Given the description of an element on the screen output the (x, y) to click on. 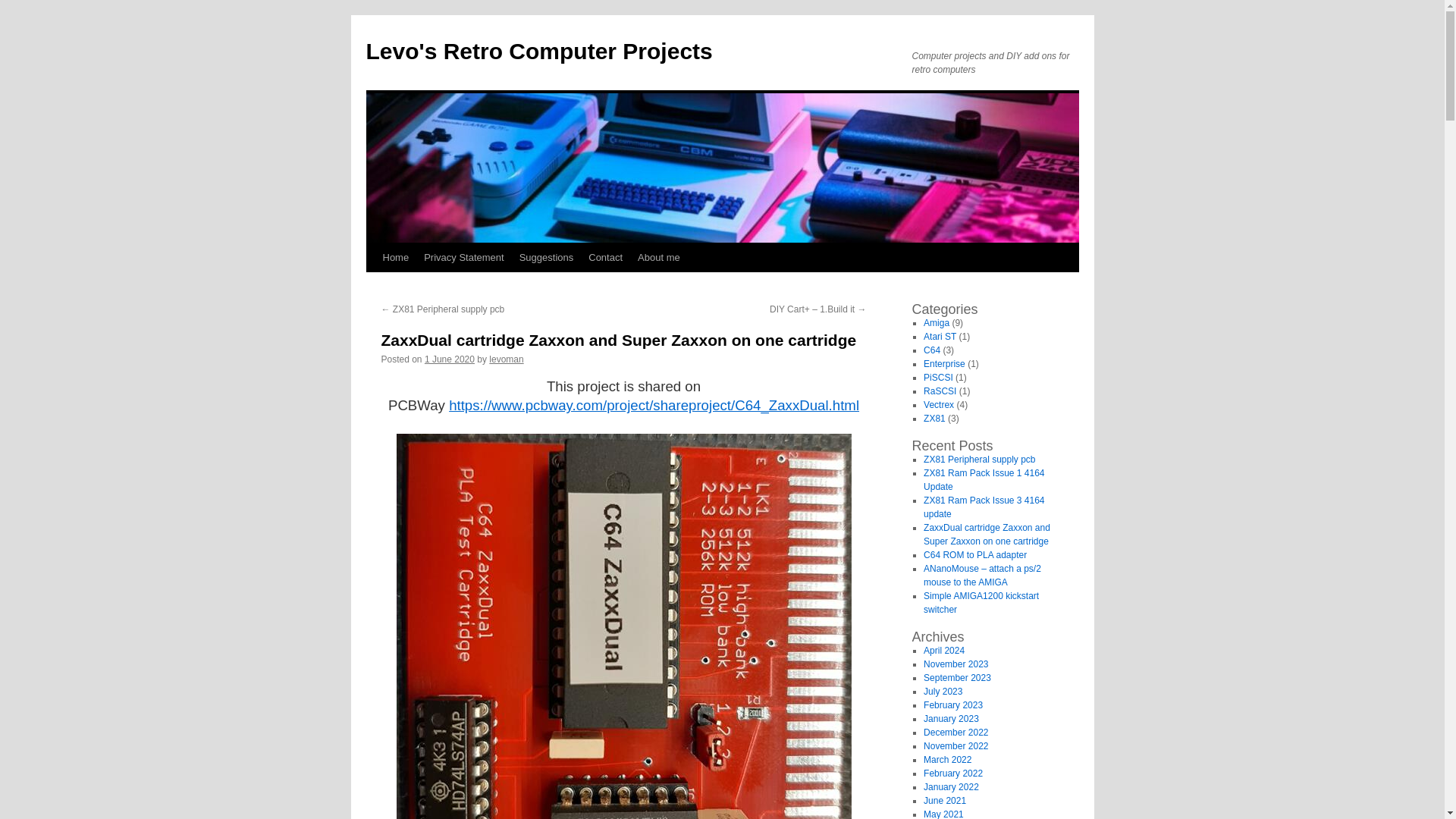
levoman (505, 358)
1 June 2020 (449, 358)
19:46 (449, 358)
Home (395, 257)
View all posts by levoman (505, 358)
Suggestions (546, 257)
Privacy Statement (464, 257)
Contact (605, 257)
Amiga (936, 322)
Levo's Retro Computer Projects (538, 50)
